Given the description of an element on the screen output the (x, y) to click on. 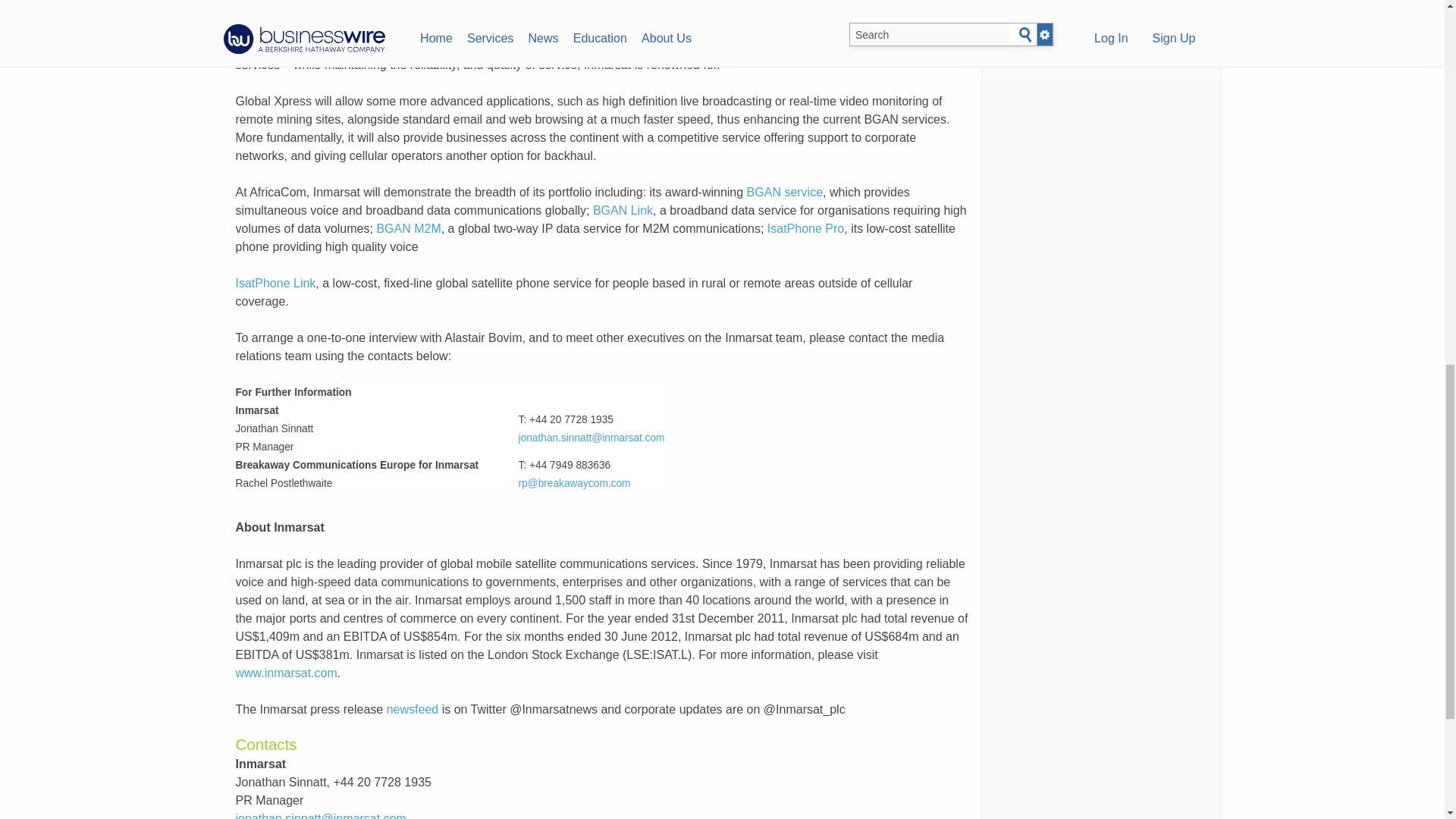
BGAN service (784, 192)
IsatPhone Pro (805, 228)
BGAN Link (622, 210)
www.inmarsat.com (285, 672)
newsfeed (413, 708)
BGAN M2M (408, 228)
IsatPhone Link (274, 282)
